Given the description of an element on the screen output the (x, y) to click on. 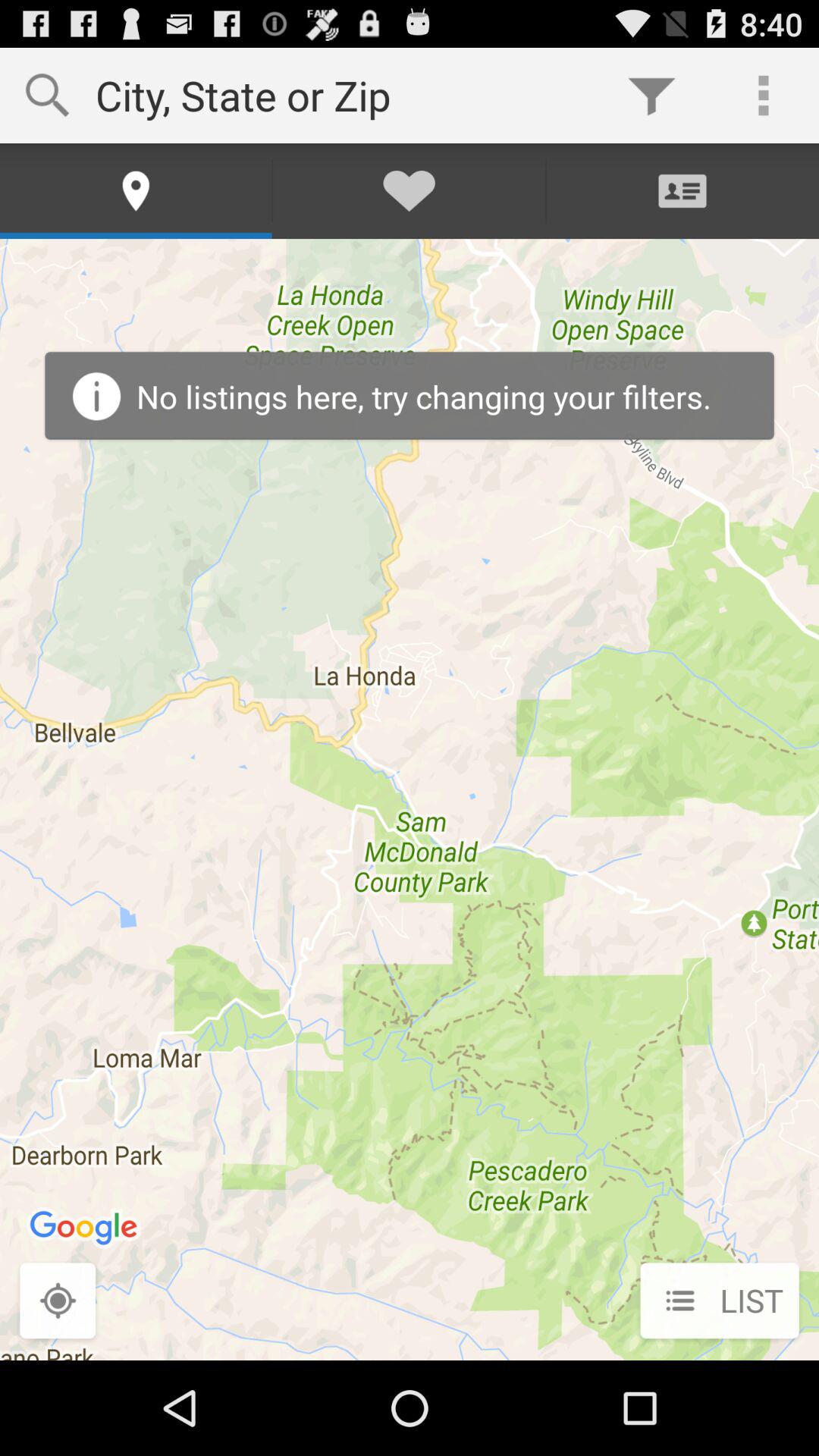
turn off list icon (719, 1302)
